Given the description of an element on the screen output the (x, y) to click on. 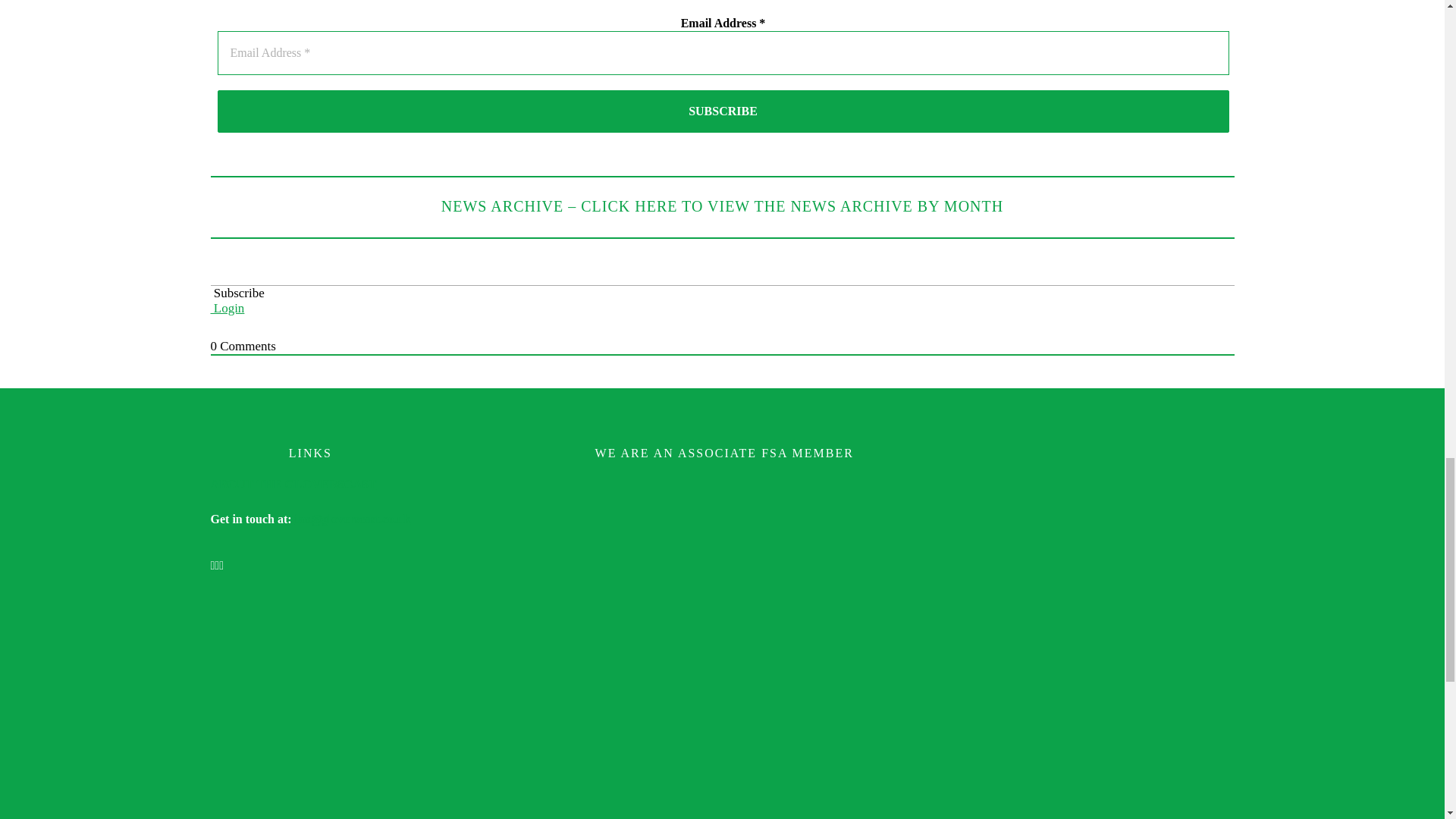
SUBSCRIBE (722, 111)
Email Address (722, 53)
